Given the description of an element on the screen output the (x, y) to click on. 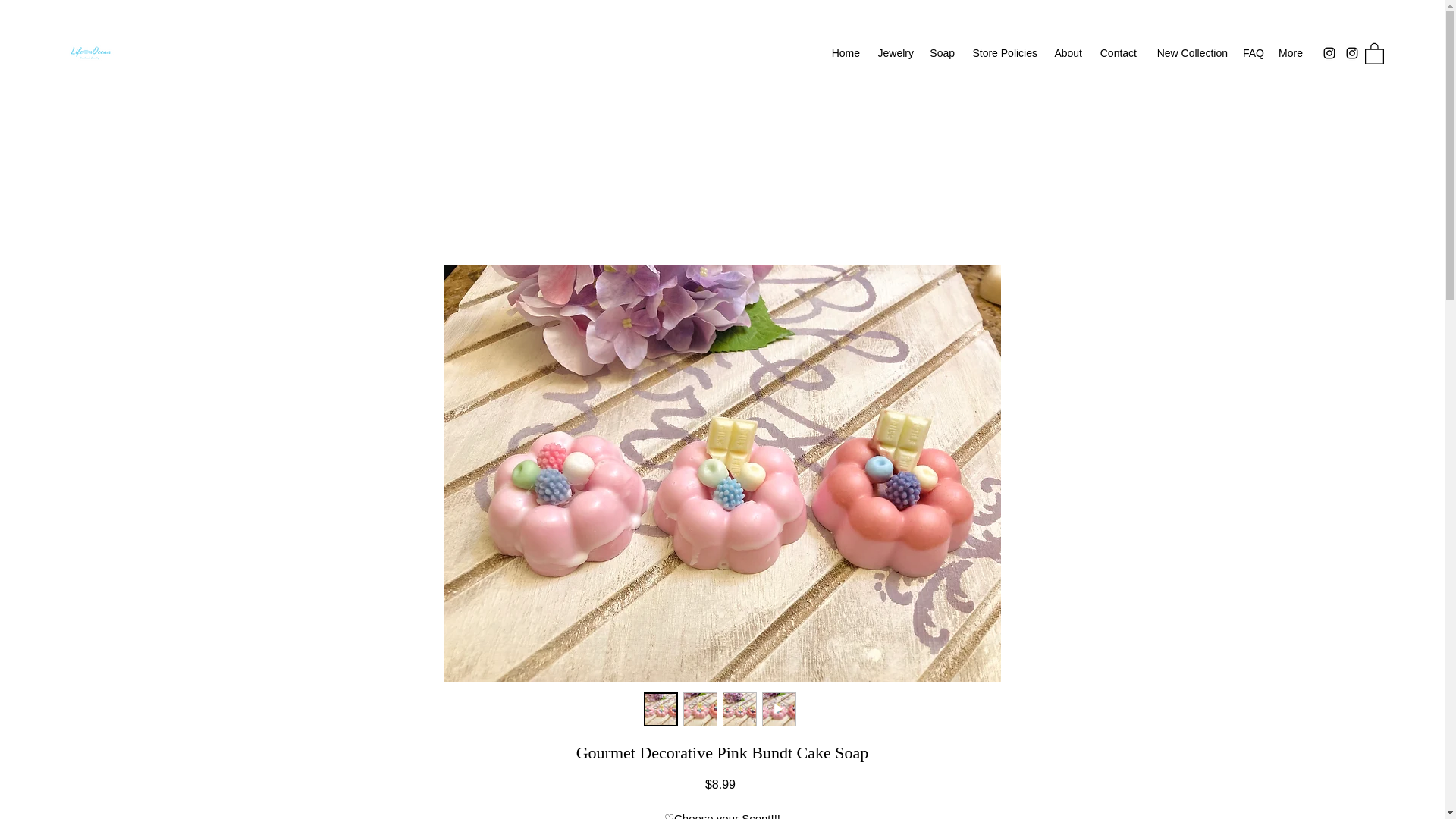
Soap (941, 52)
Jewelry (894, 52)
About (1067, 52)
FAQ (1251, 52)
Contact (1116, 52)
Home (844, 52)
Store Policies (1003, 52)
New Collection (1189, 52)
